Given the description of an element on the screen output the (x, y) to click on. 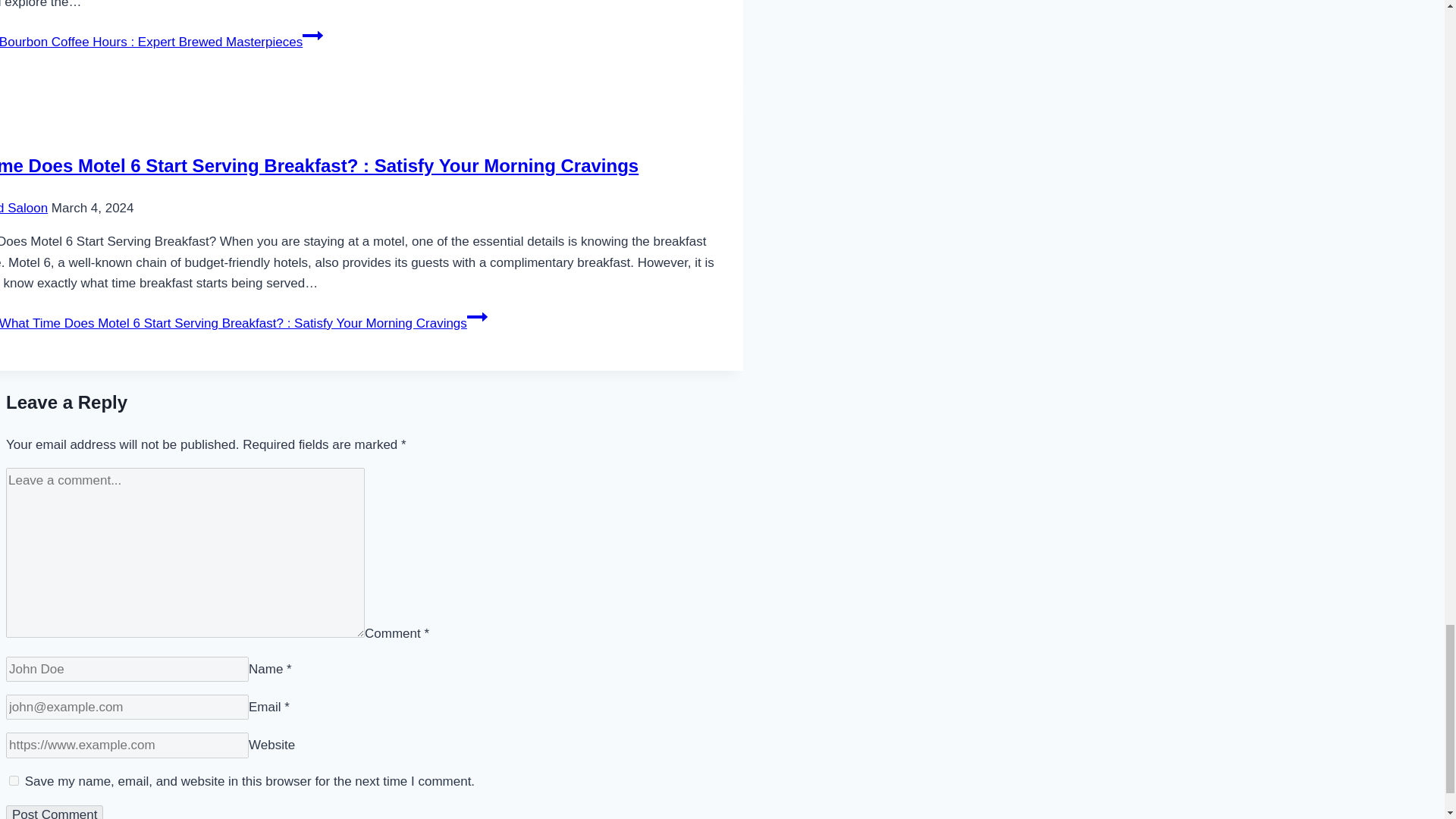
Continue (477, 316)
yes (13, 780)
Continue (312, 35)
